Given the description of an element on the screen output the (x, y) to click on. 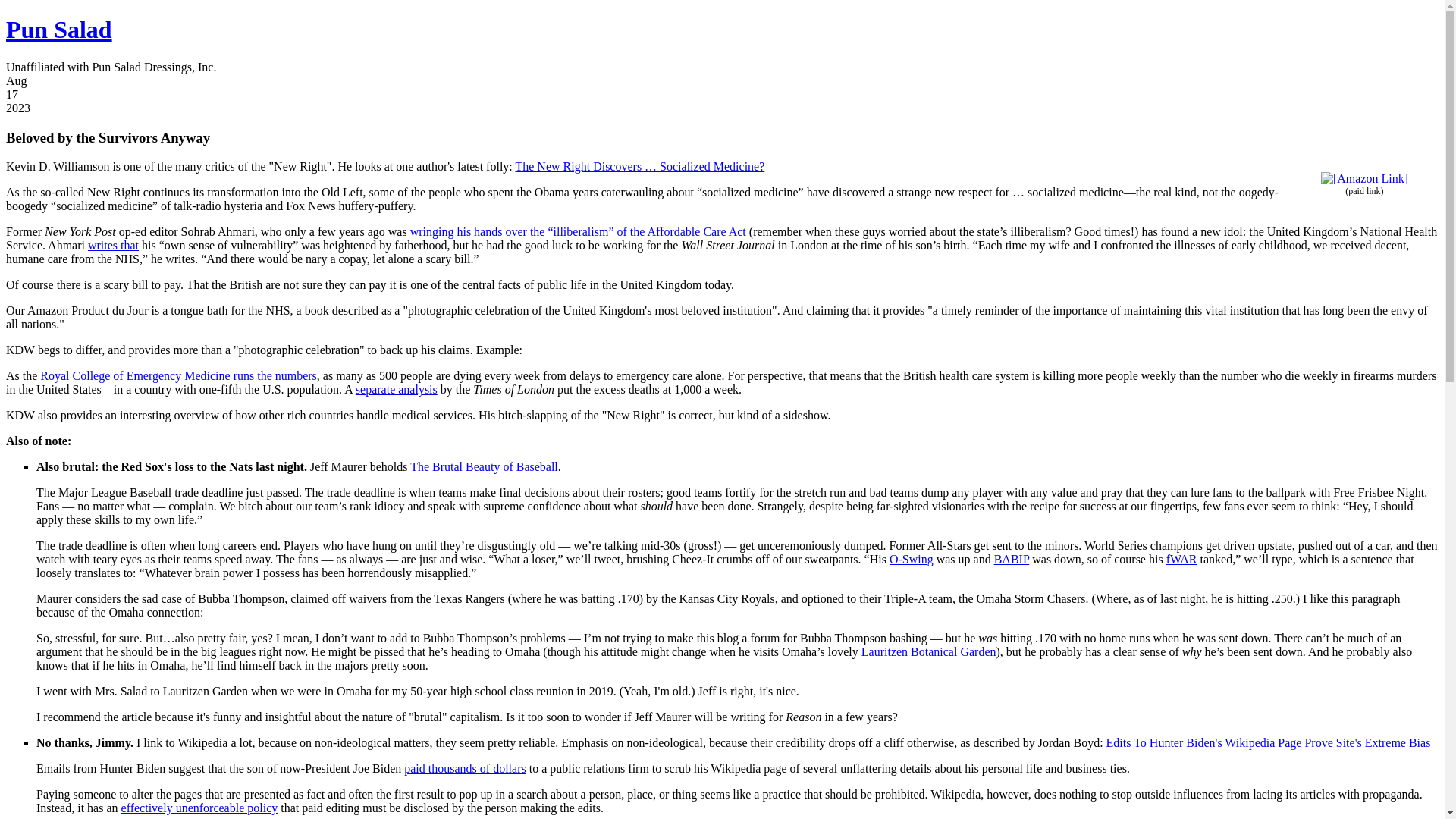
The Brutal Beauty of Baseball (483, 466)
Pun Salad (58, 29)
effectively unenforceable policy (199, 807)
paid thousands of dollars (464, 768)
O-Swing (911, 558)
writes that (112, 245)
separate analysis (396, 389)
BABIP (1011, 558)
fWAR (1181, 558)
Royal College of Emergency Medicine runs the numbers (178, 375)
